Given the description of an element on the screen output the (x, y) to click on. 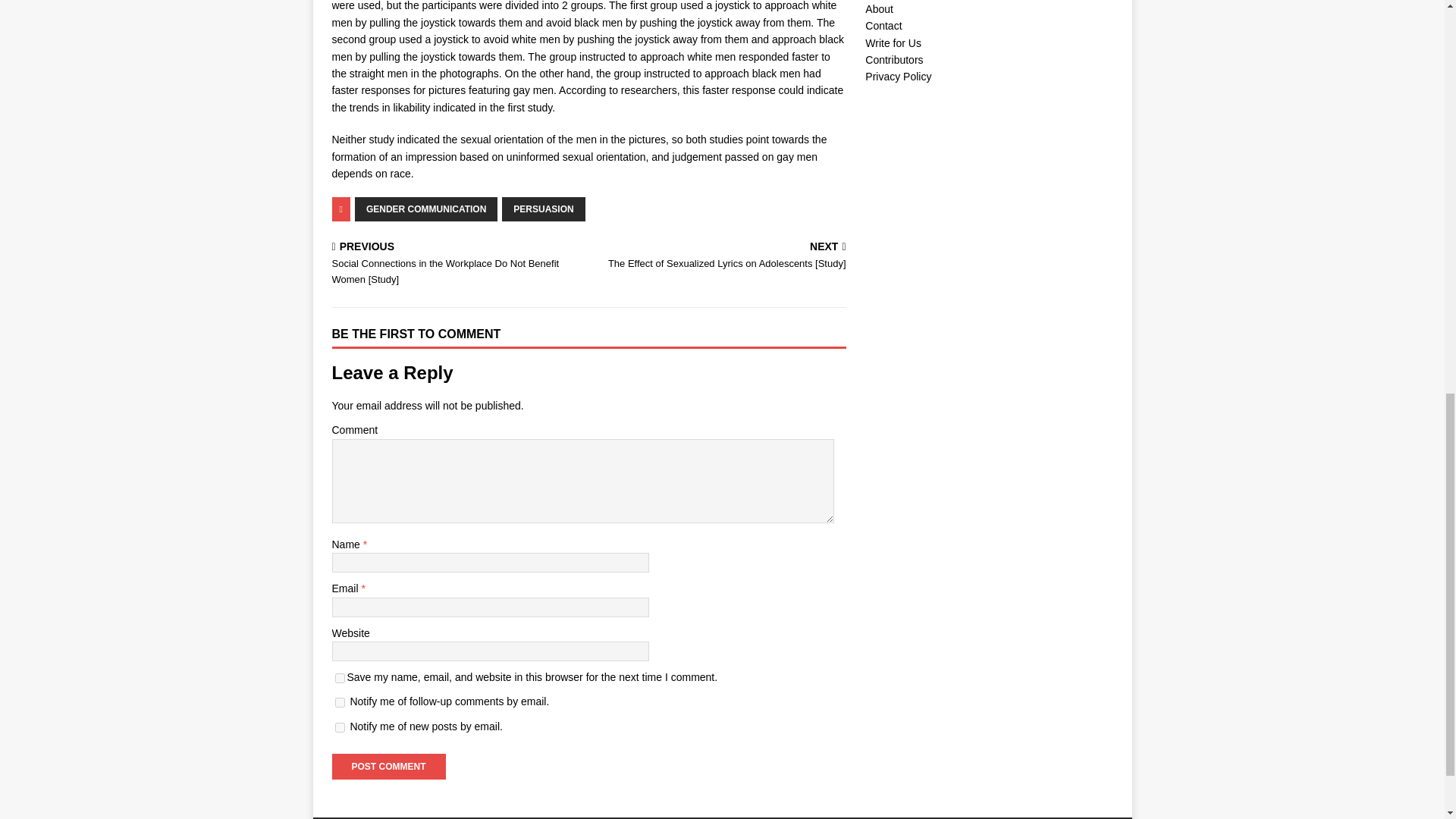
subscribe (339, 702)
subscribe (339, 727)
Post Comment (388, 766)
yes (339, 678)
